Given the description of an element on the screen output the (x, y) to click on. 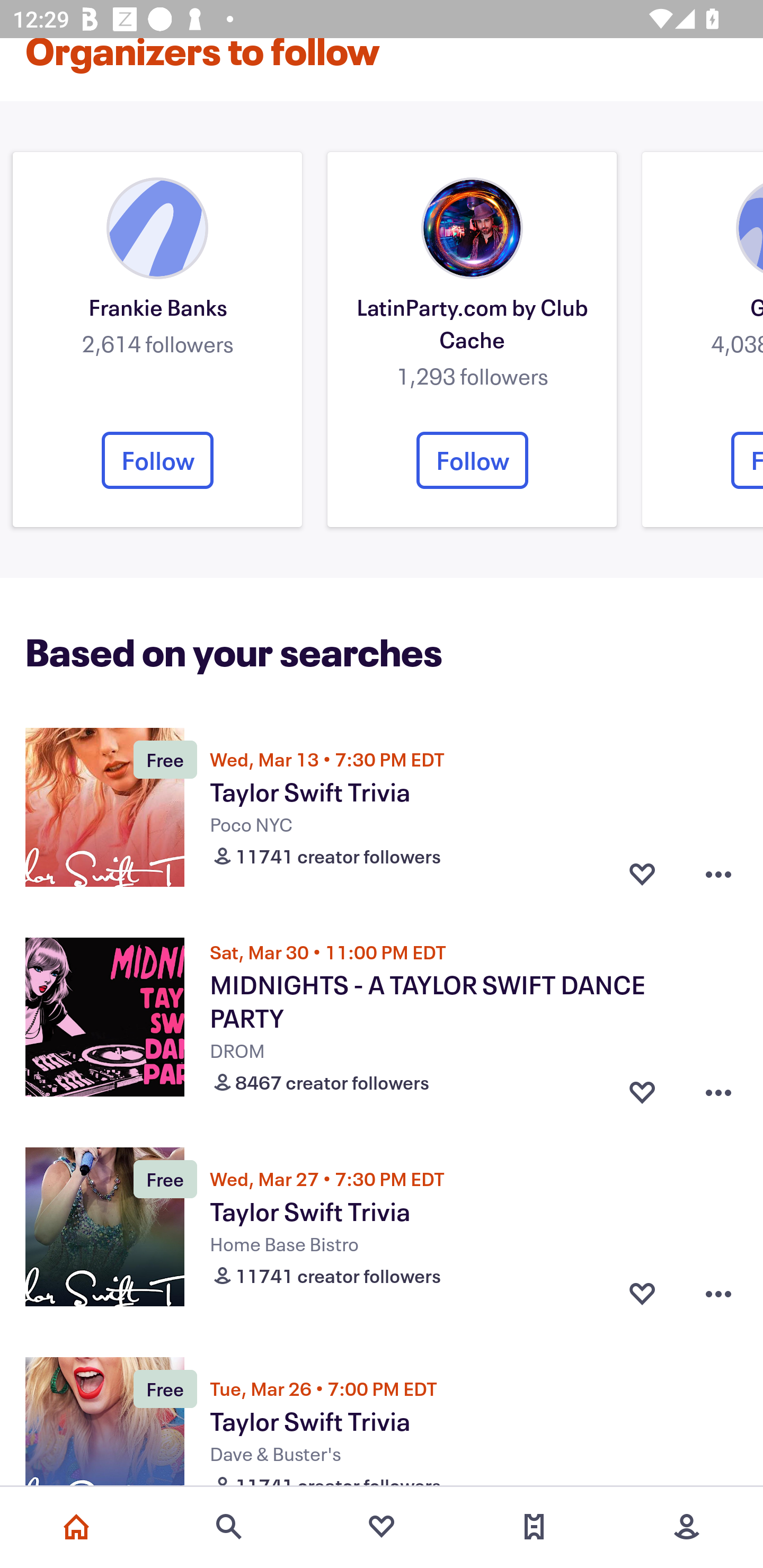
Follow Organizer's follow button (157, 460)
Follow Organizer's follow button (471, 460)
Favorite button (642, 873)
Overflow menu button (718, 873)
Favorite button (642, 1088)
Overflow menu button (718, 1088)
Favorite button (642, 1293)
Overflow menu button (718, 1293)
Home (76, 1526)
Search events (228, 1526)
Favorites (381, 1526)
Tickets (533, 1526)
More (686, 1526)
